Given the description of an element on the screen output the (x, y) to click on. 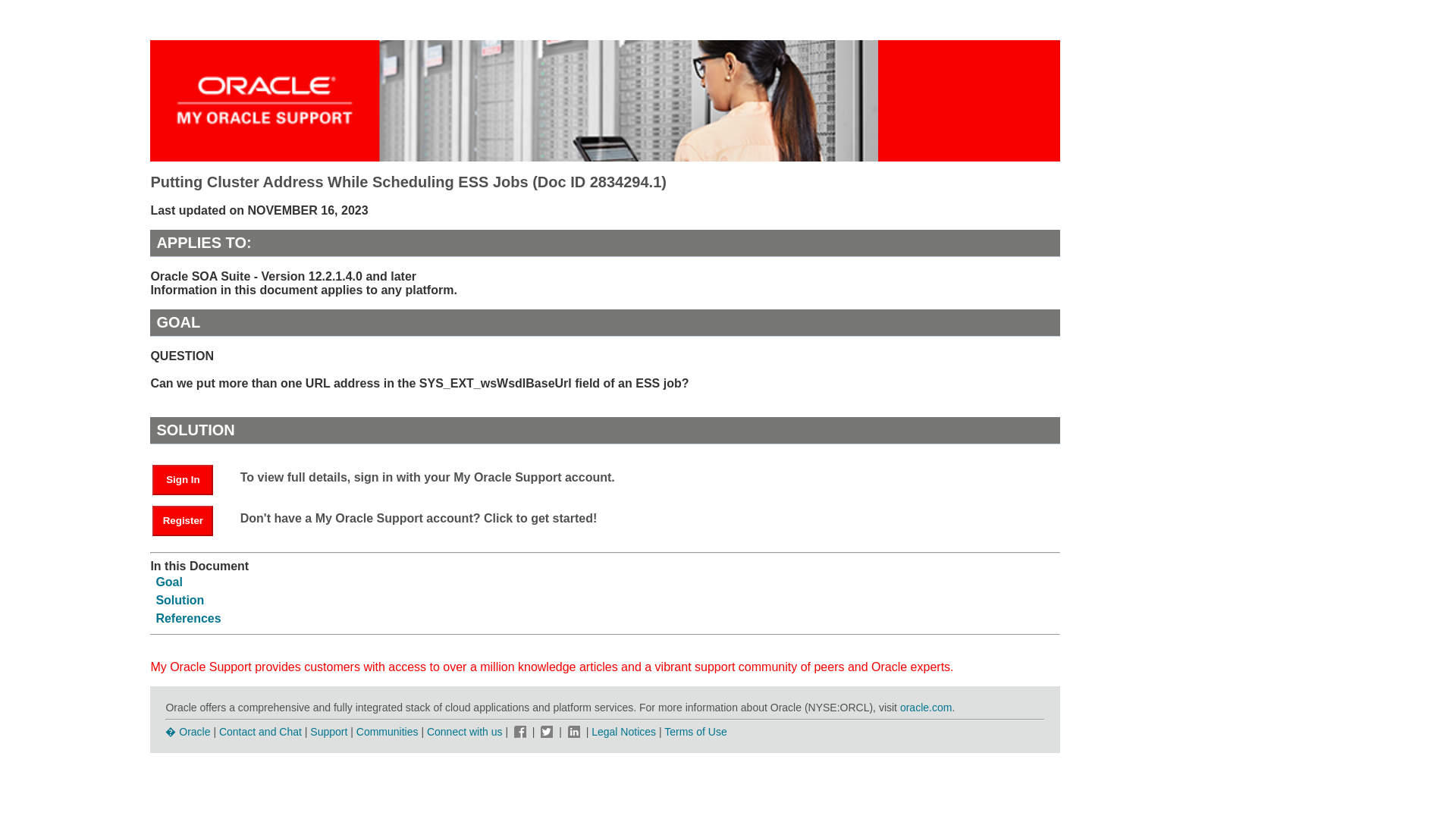
Communities (387, 731)
oracle.com (925, 707)
Goal (169, 581)
Connect with us (465, 731)
Sign In (190, 478)
References (188, 617)
Terms of Use (694, 731)
Solution (179, 599)
Register (190, 519)
Sign In (182, 480)
Register (182, 521)
Contact and Chat (260, 731)
oracle.com (925, 707)
Legal Notices (623, 731)
Support (328, 731)
